Given the description of an element on the screen output the (x, y) to click on. 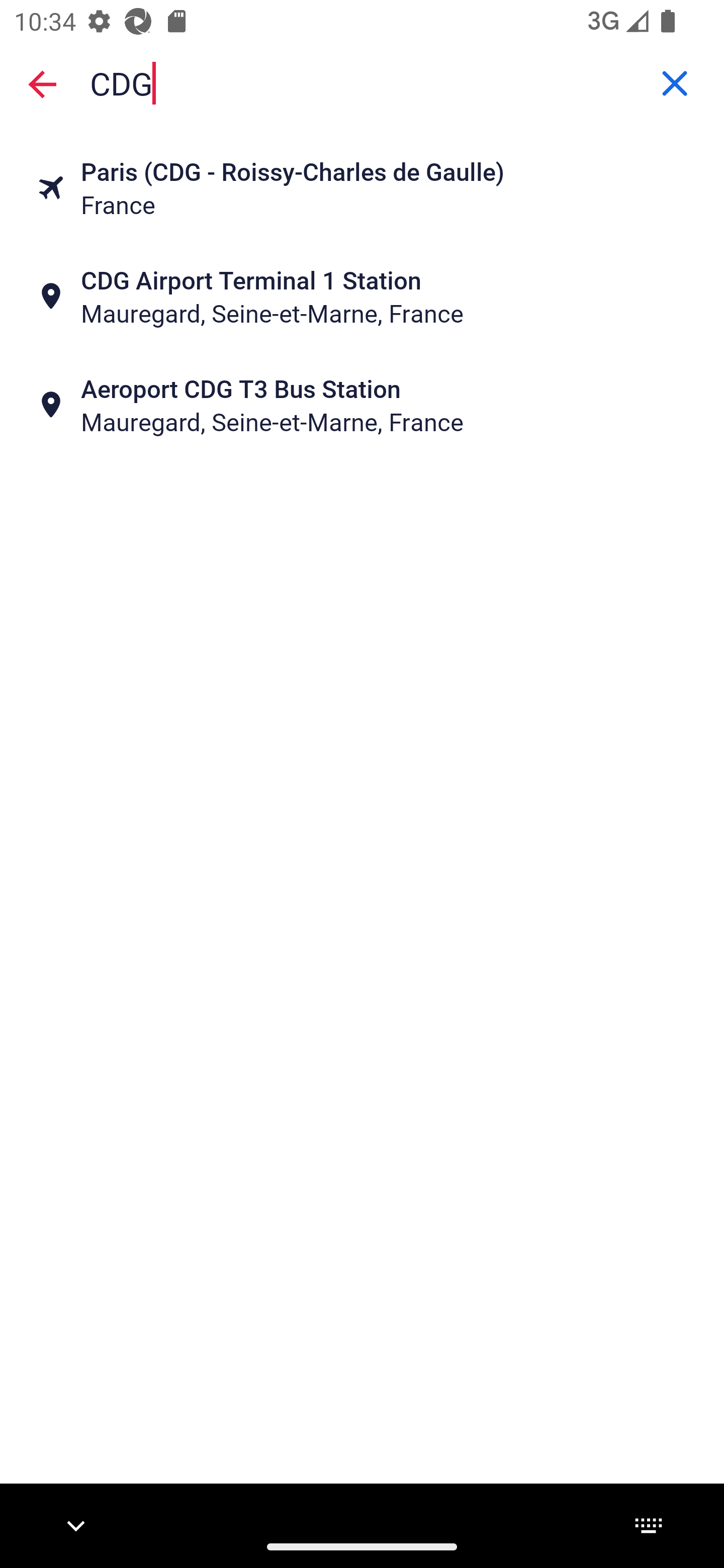
Clear Pick-up (674, 82)
Pick-up, CDG (361, 82)
Close search screen (41, 83)
